Given the description of an element on the screen output the (x, y) to click on. 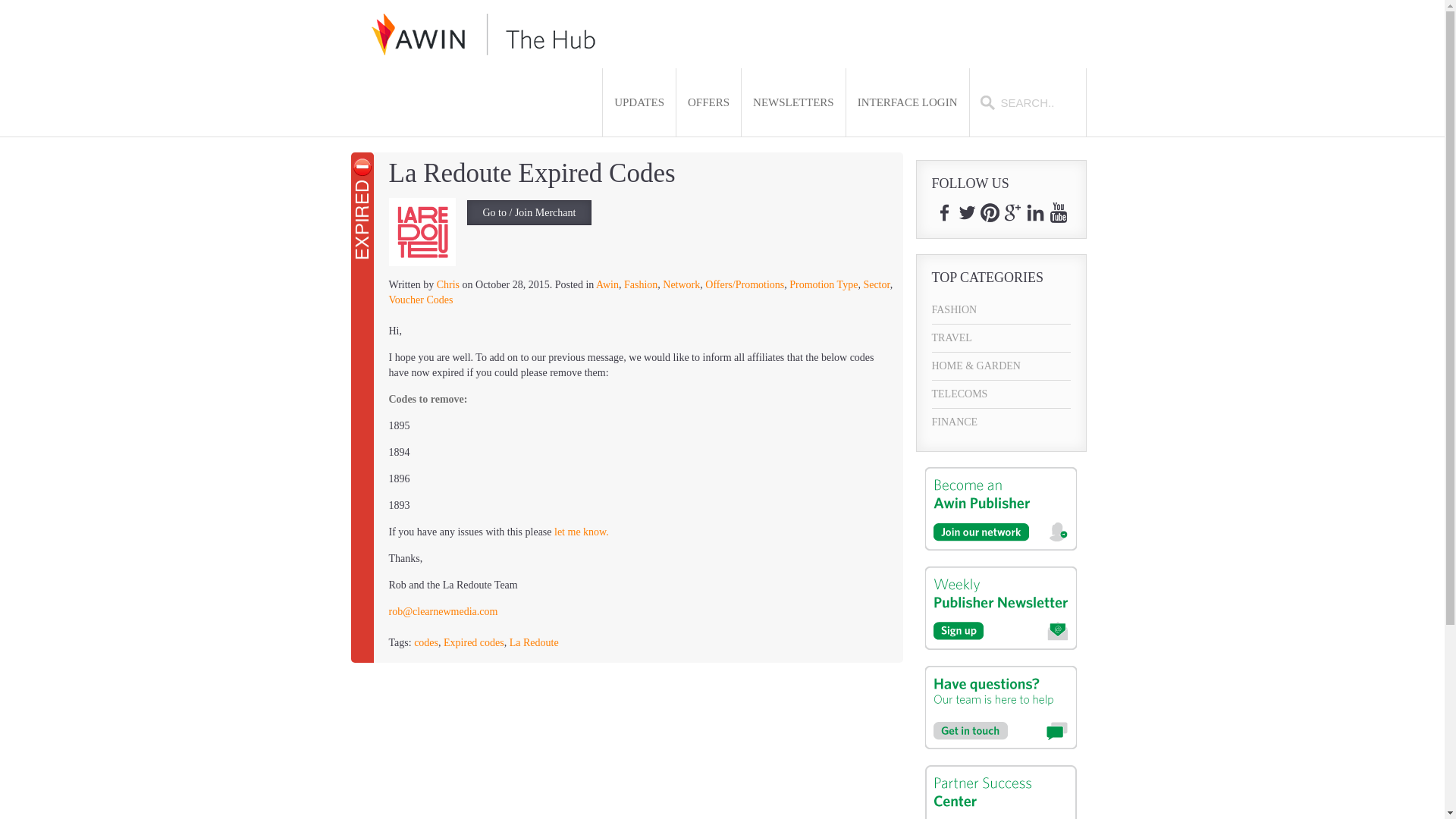
Interface Login (907, 102)
OFFERS (708, 102)
Voucher Codes (420, 299)
FASHION (1000, 309)
Chris (448, 284)
Fashion (641, 284)
FINANCE (1000, 421)
Chris (448, 284)
Promotion Type (823, 284)
TRAVEL (1000, 338)
Network (681, 284)
INTERFACE LOGIN (907, 102)
Awin (606, 284)
Sector (876, 284)
codes (425, 642)
